Given the description of an element on the screen output the (x, y) to click on. 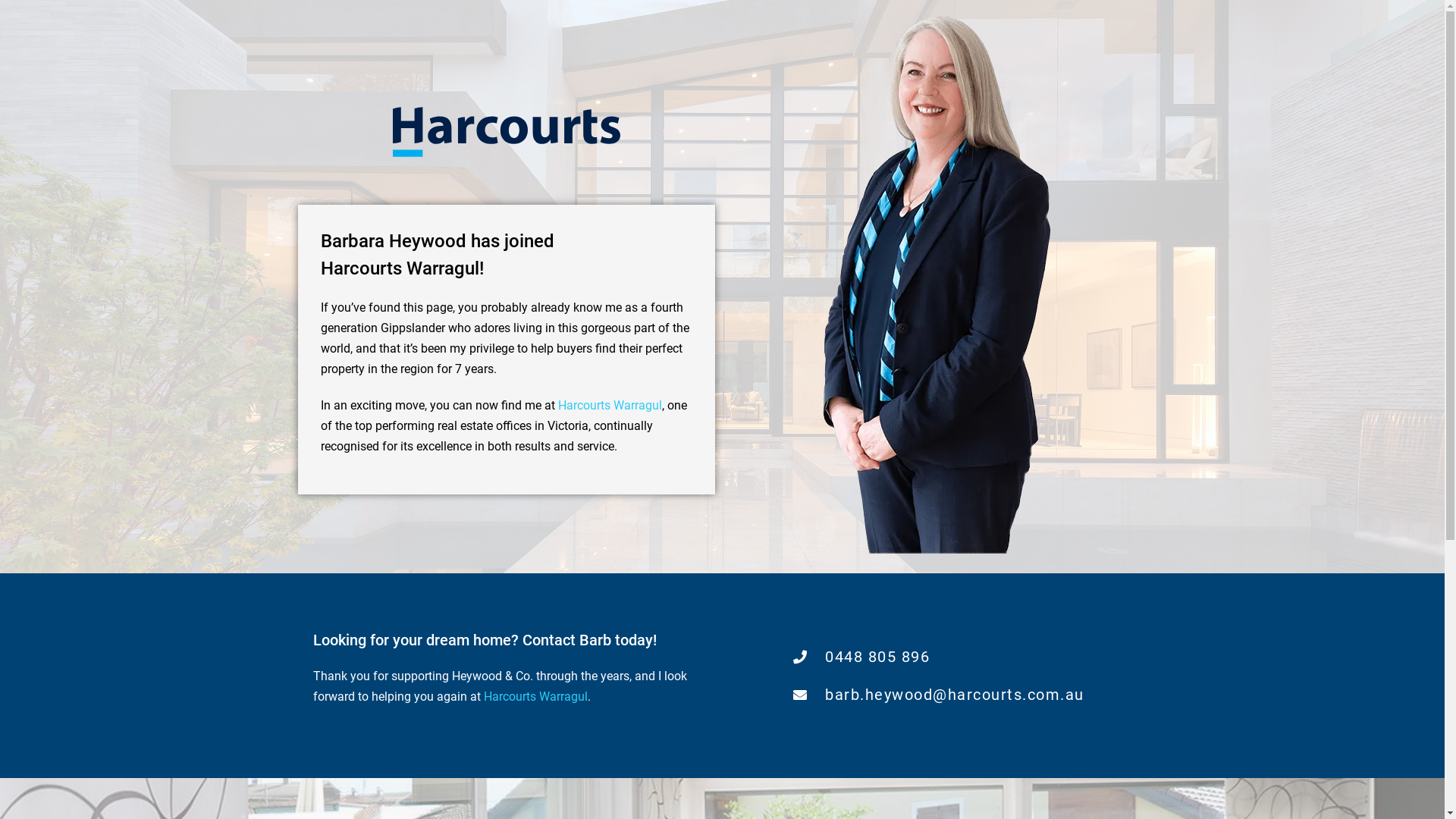
Harcourts Warragul Element type: text (610, 405)
0448 805 896 Element type: text (938, 656)
Harcourts Warragul Element type: text (535, 696)
barb.heywood@harcourts.com.au Element type: text (938, 694)
